Given the description of an element on the screen output the (x, y) to click on. 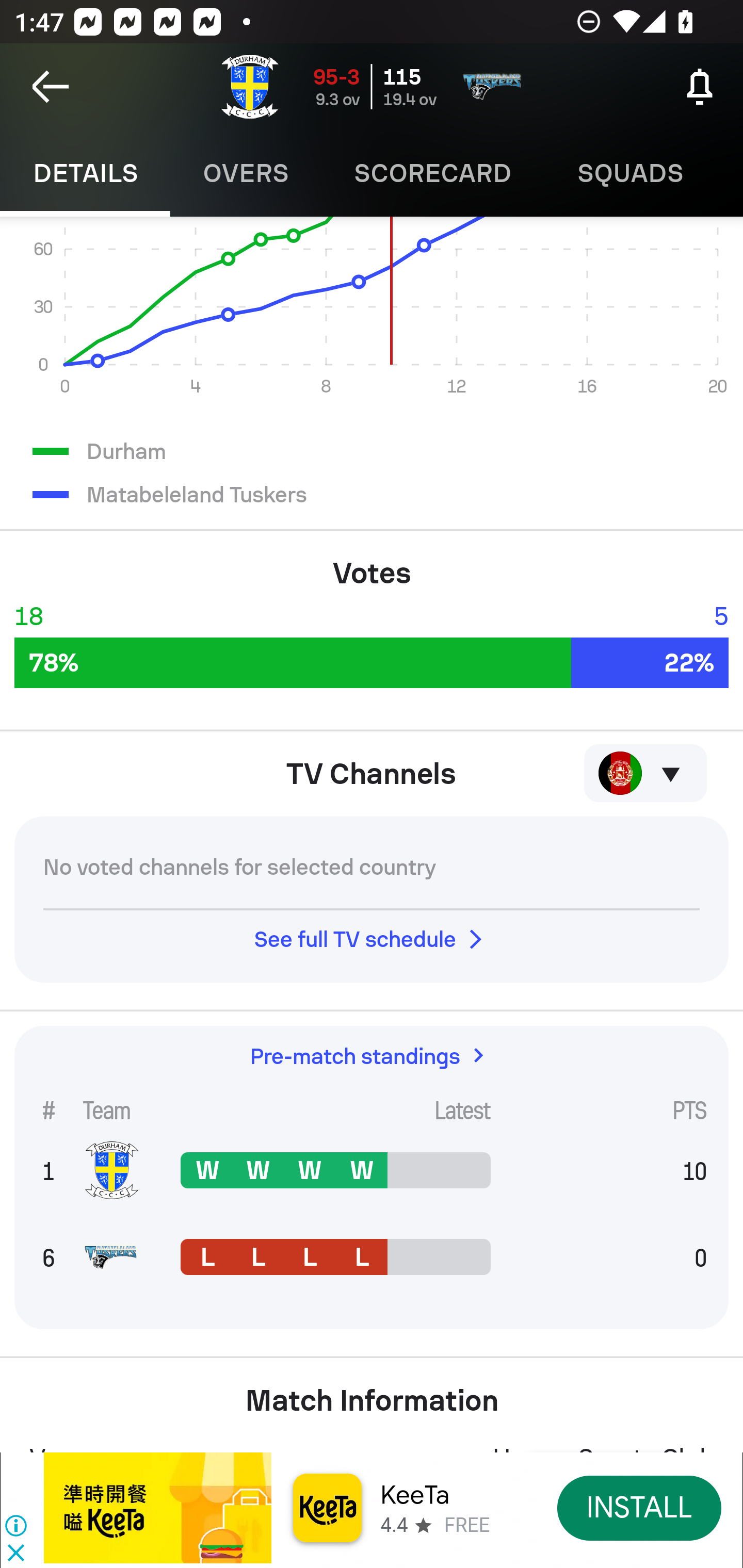
Navigate up (50, 86)
Overs OVERS (245, 173)
Scorecard SCORECARD (432, 173)
Squads SQUADS (630, 173)
See full TV schedule (371, 939)
INSTALL (639, 1507)
KeeTa (414, 1494)
